Given the description of an element on the screen output the (x, y) to click on. 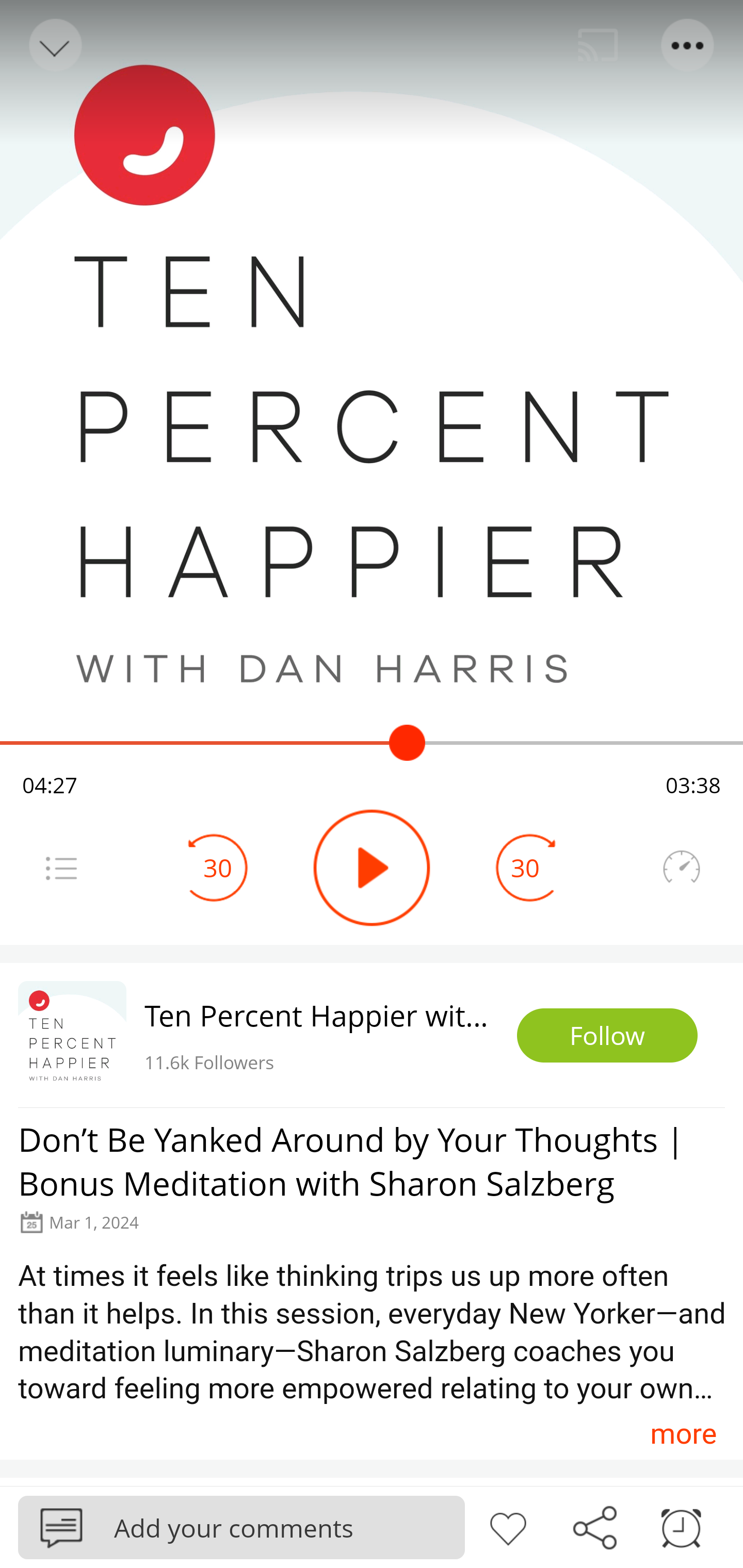
Back (53, 45)
Cast. Disconnected (597, 45)
Menu (688, 45)
Play (371, 867)
30 Seek Backward (217, 867)
30 Seek Forward (525, 867)
Menu (60, 867)
Speedometer (681, 867)
Follow (607, 1035)
more (682, 1432)
Like (508, 1526)
Share (594, 1526)
Sleep timer (681, 1526)
Podbean Add your comments (241, 1526)
